Given the description of an element on the screen output the (x, y) to click on. 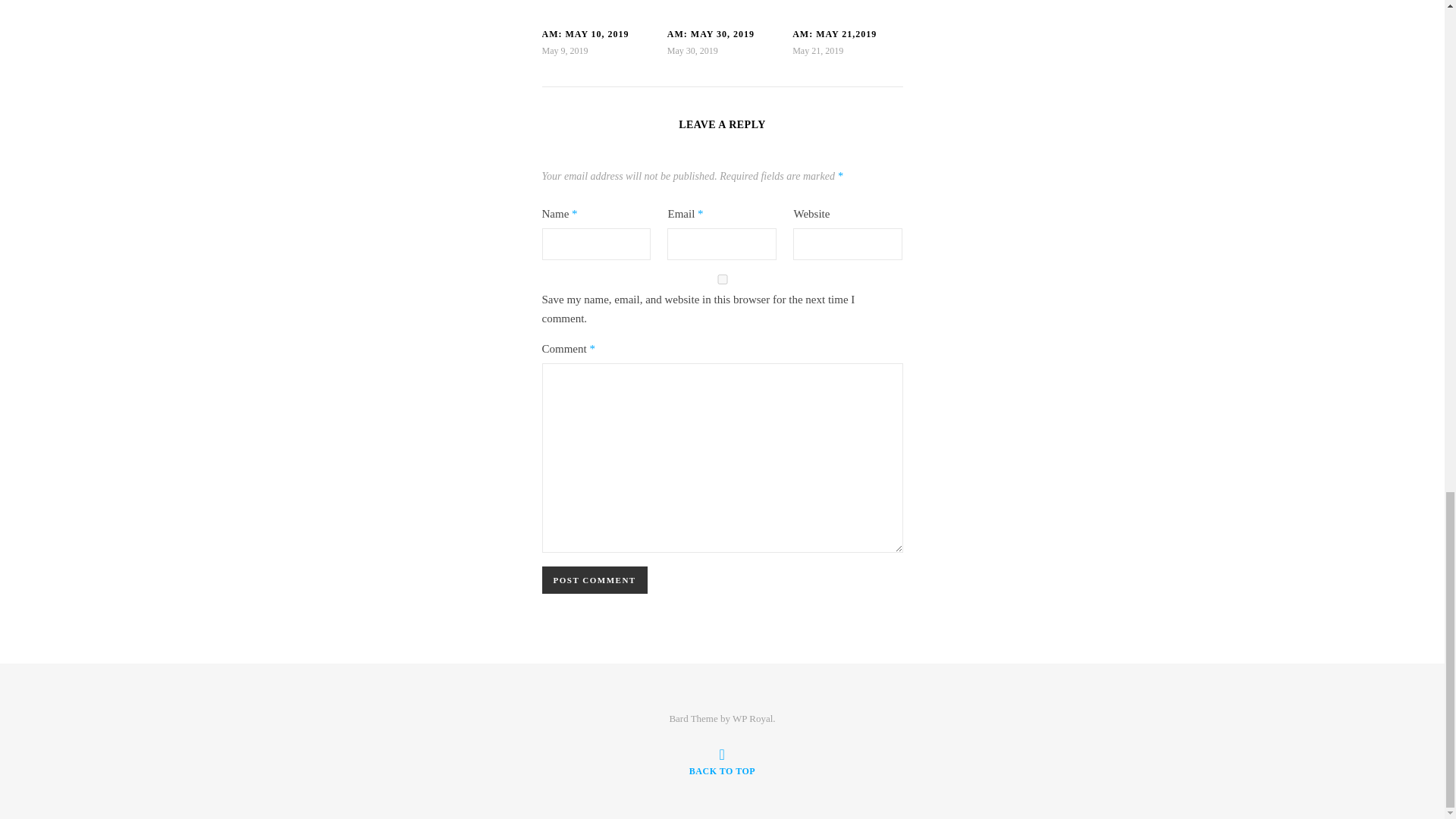
AM: MAY 30, 2019 (710, 33)
Post Comment (593, 579)
BACK TO TOP (722, 761)
AM: MAY 10, 2019 (584, 33)
AM: MAY 21,2019 (834, 33)
Post Comment (593, 579)
yes (721, 279)
